Given the description of an element on the screen output the (x, y) to click on. 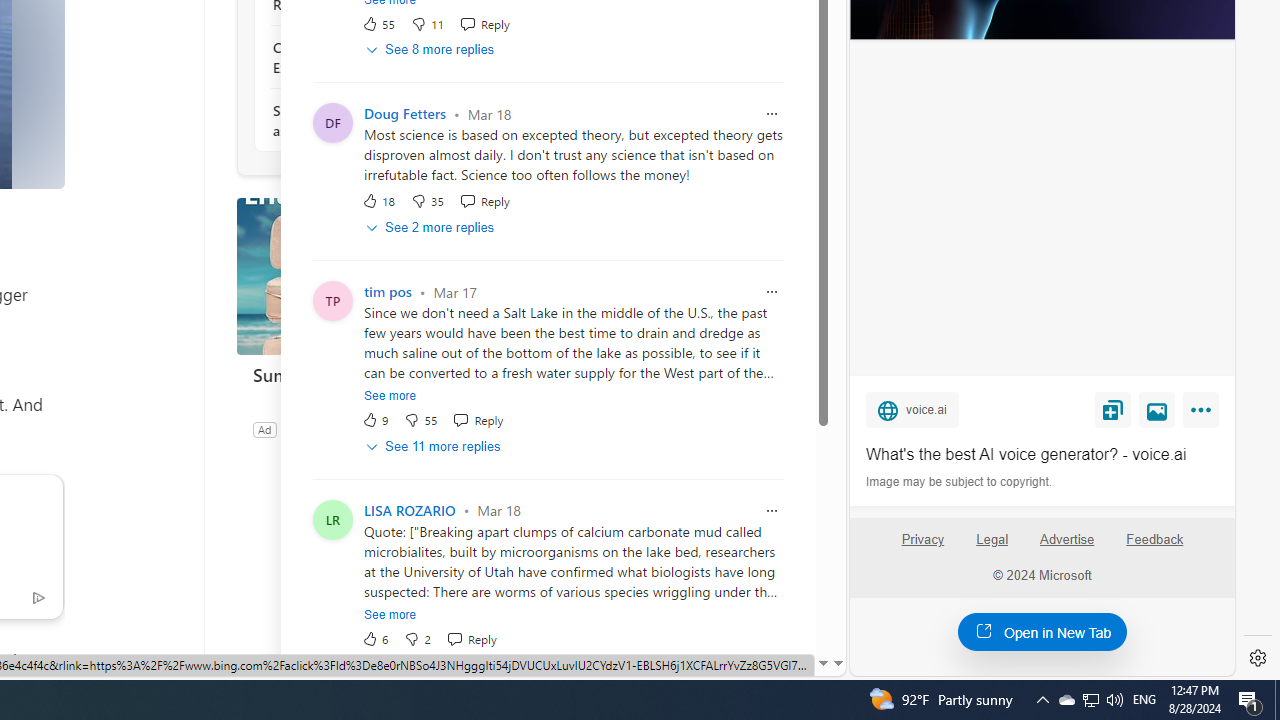
Summer Adventure Sale (386, 276)
Nordace (304, 429)
55 Like (378, 23)
See 8 more replies (431, 50)
Advertise (1066, 539)
Summer Adventure Sale (386, 374)
Advertise (1067, 547)
Settings (1258, 658)
6 Like (375, 637)
Feedback (1154, 547)
Image may be subject to copyright. (959, 481)
